Given the description of an element on the screen output the (x, y) to click on. 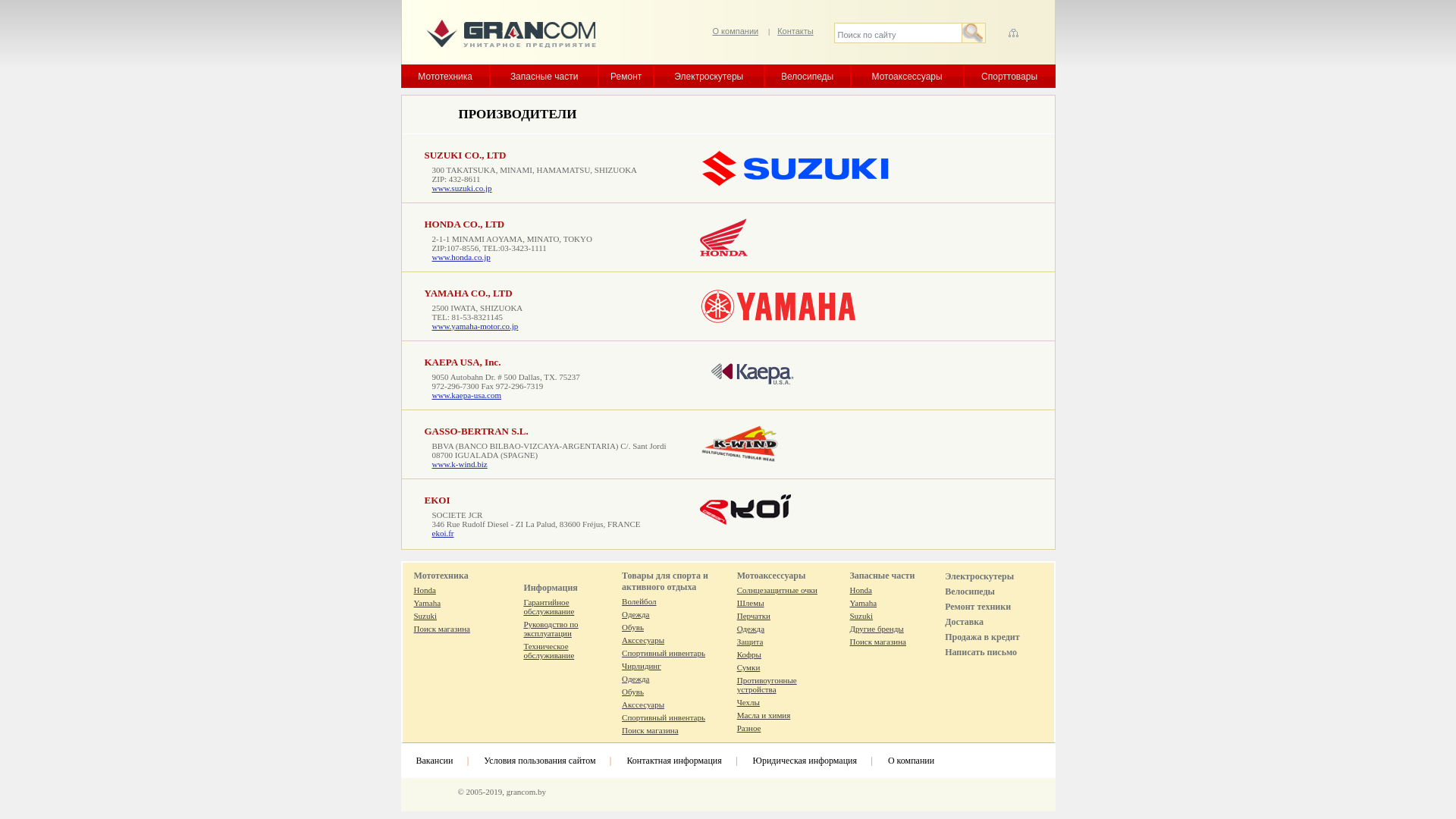
Honda Element type: text (860, 589)
ekoi.fr Element type: text (443, 532)
www.honda.co.jp Element type: text (461, 256)
LiveInternet Element type: hover (436, 791)
www.k-wind.biz Element type: text (459, 463)
Honda Element type: text (425, 589)
www.suzuki.co.jp Element type: text (462, 187)
www.kaepa-usa.com Element type: text (467, 394)
Yamaha Element type: text (427, 602)
Yamaha Element type: text (862, 602)
www.yamaha-motor.co.jp Element type: text (475, 325)
Suzuki Element type: text (425, 615)
Suzuki Element type: text (860, 615)
